Given the description of an element on the screen output the (x, y) to click on. 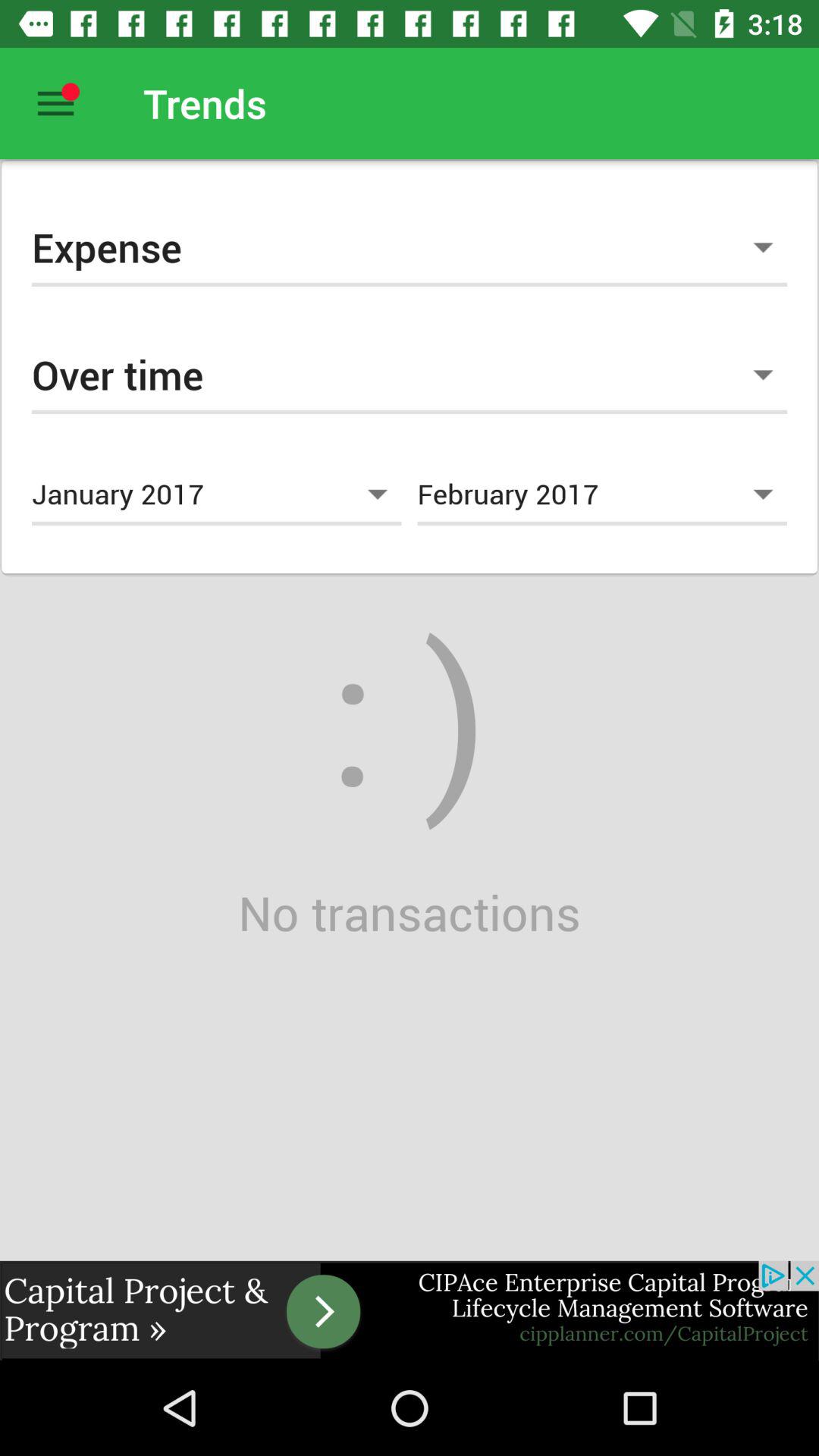
capitalproject advertisement (409, 1310)
